Given the description of an element on the screen output the (x, y) to click on. 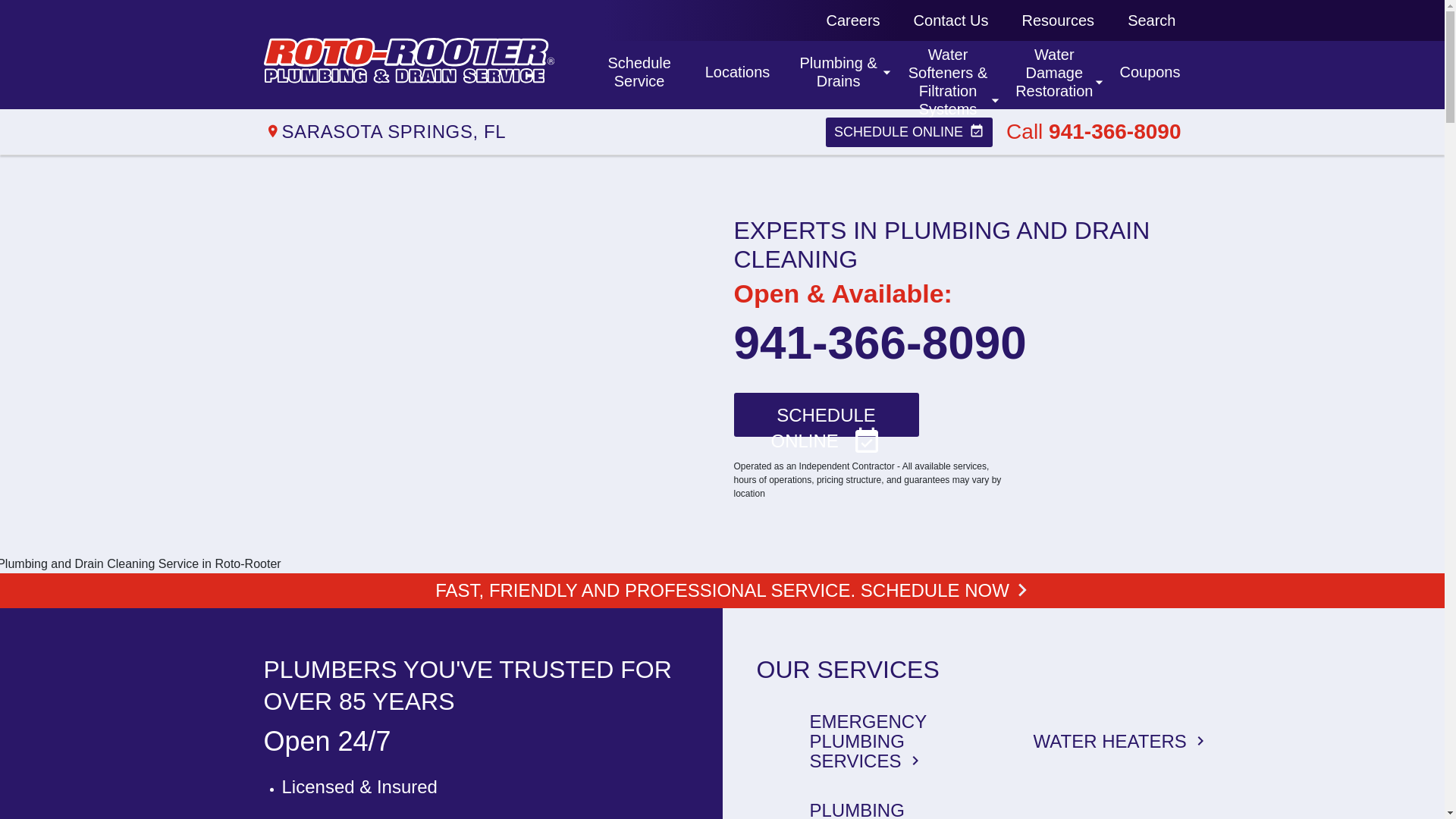
Search (1151, 20)
Resources (637, 74)
Locations (1059, 20)
Careers (736, 74)
Contact Us (852, 20)
